Given the description of an element on the screen output the (x, y) to click on. 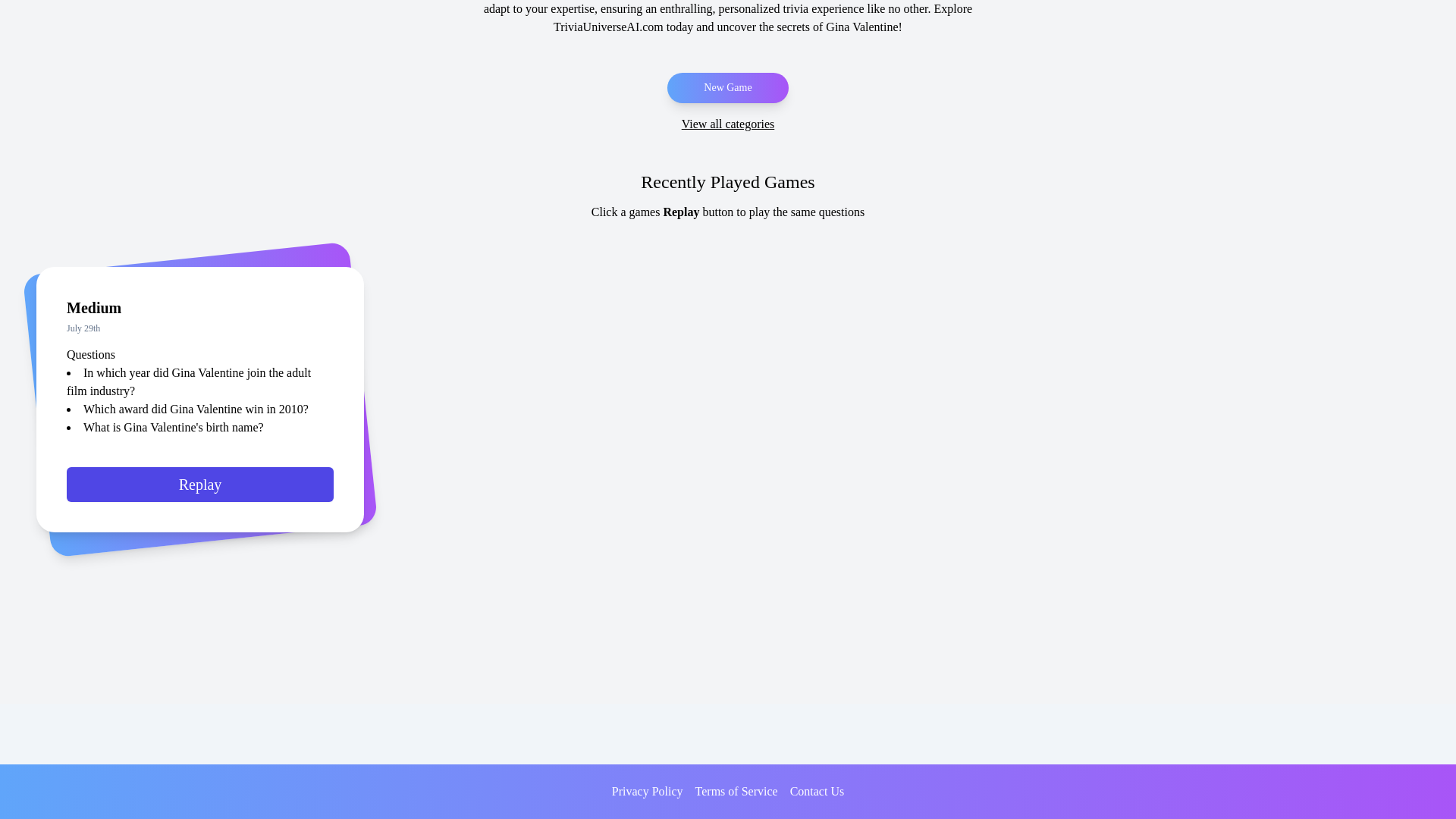
Terms of Service (736, 791)
Replay (199, 492)
Contact Us (817, 791)
Privacy Policy (646, 791)
View all categories (727, 124)
New Game (726, 87)
